Given the description of an element on the screen output the (x, y) to click on. 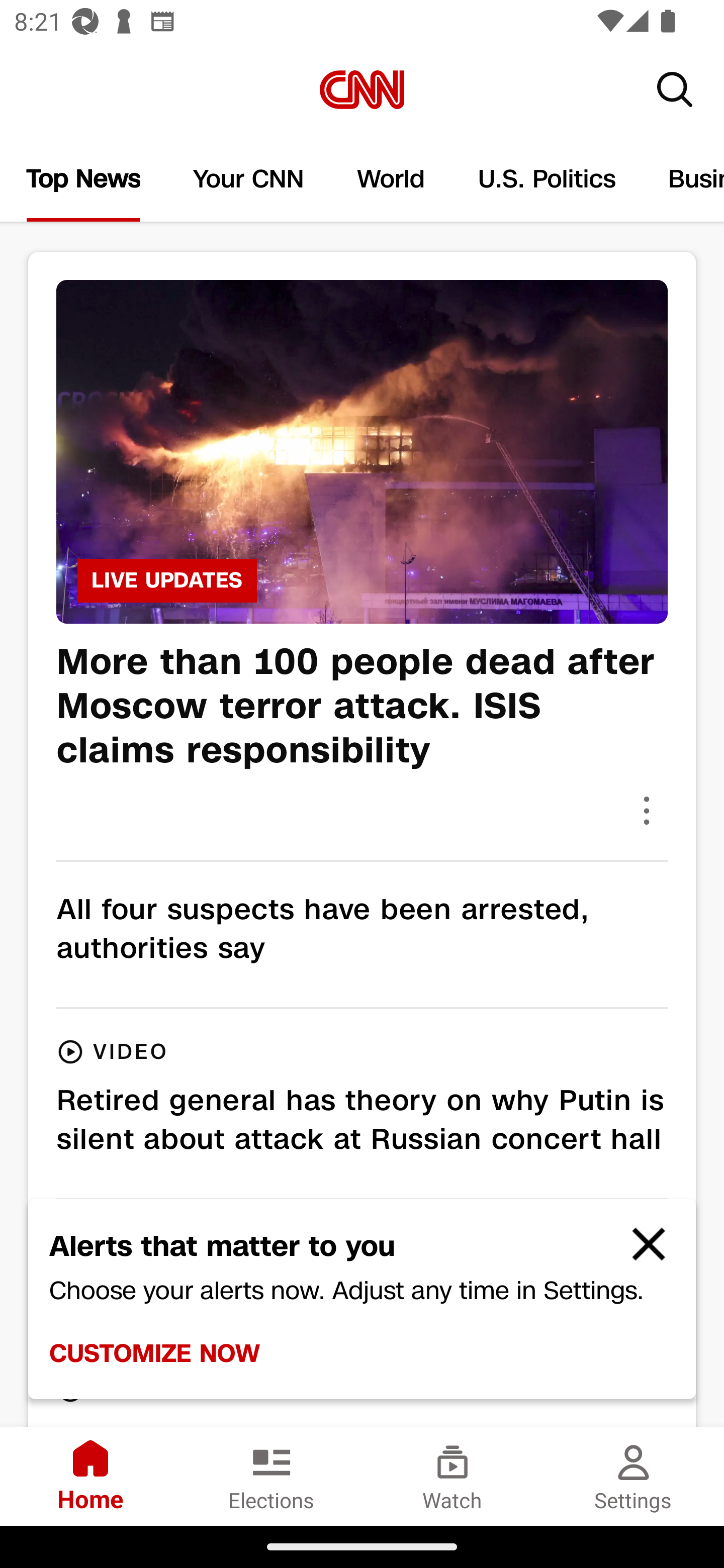
Your CNN (248, 179)
World (390, 179)
U.S. Politics (546, 179)
More actions (646, 810)
close (639, 1251)
Elections (271, 1475)
Watch (452, 1475)
Settings (633, 1475)
